Given the description of an element on the screen output the (x, y) to click on. 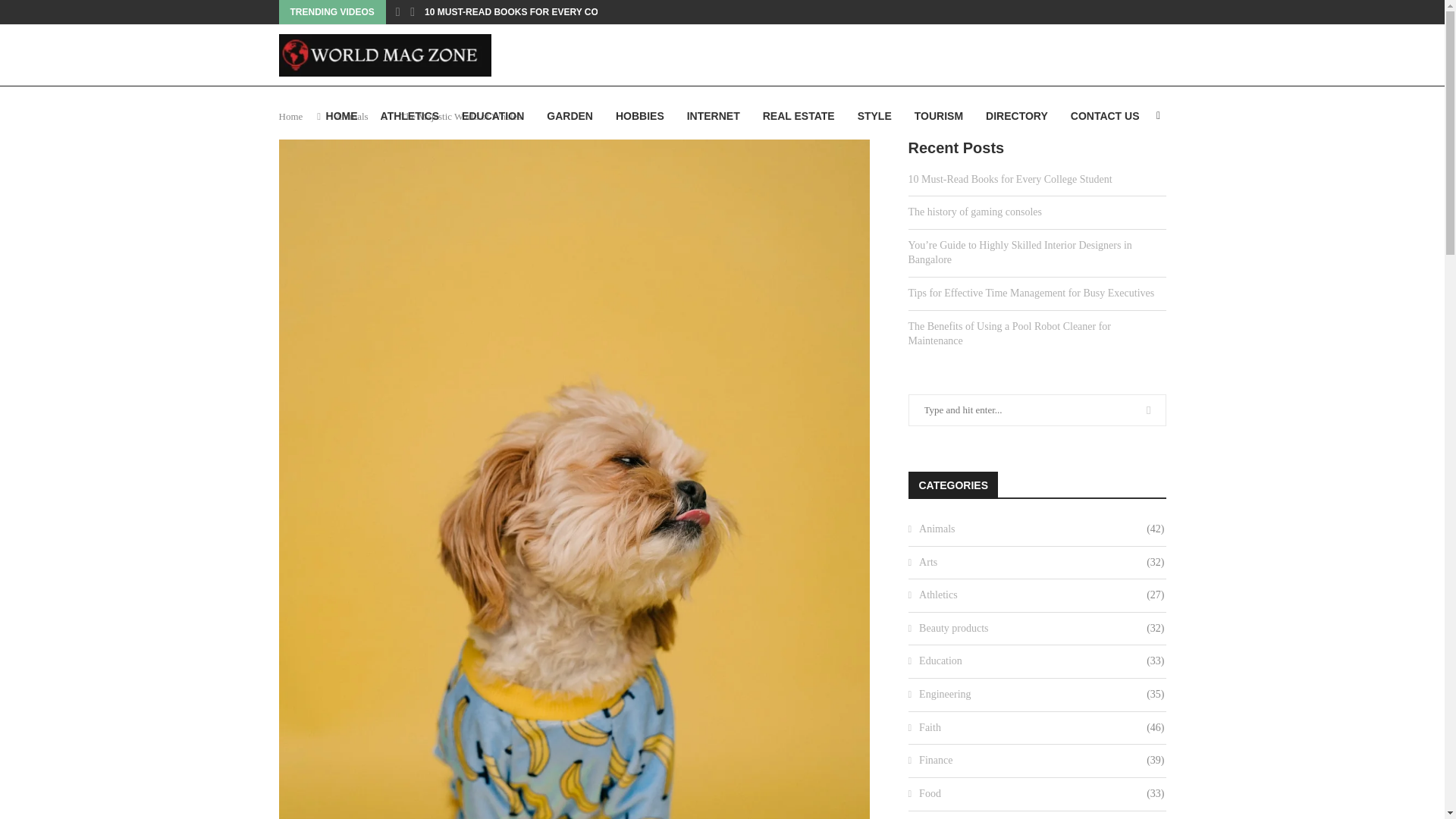
CONTACT US (1105, 115)
Home (290, 116)
REAL ESTATE (798, 115)
Animals (351, 116)
ATHLETICS (409, 115)
EDUCATION (492, 115)
DIRECTORY (1016, 115)
10 MUST-READ BOOKS FOR EVERY COLLEGE STUDENT (549, 12)
